Given the description of an element on the screen output the (x, y) to click on. 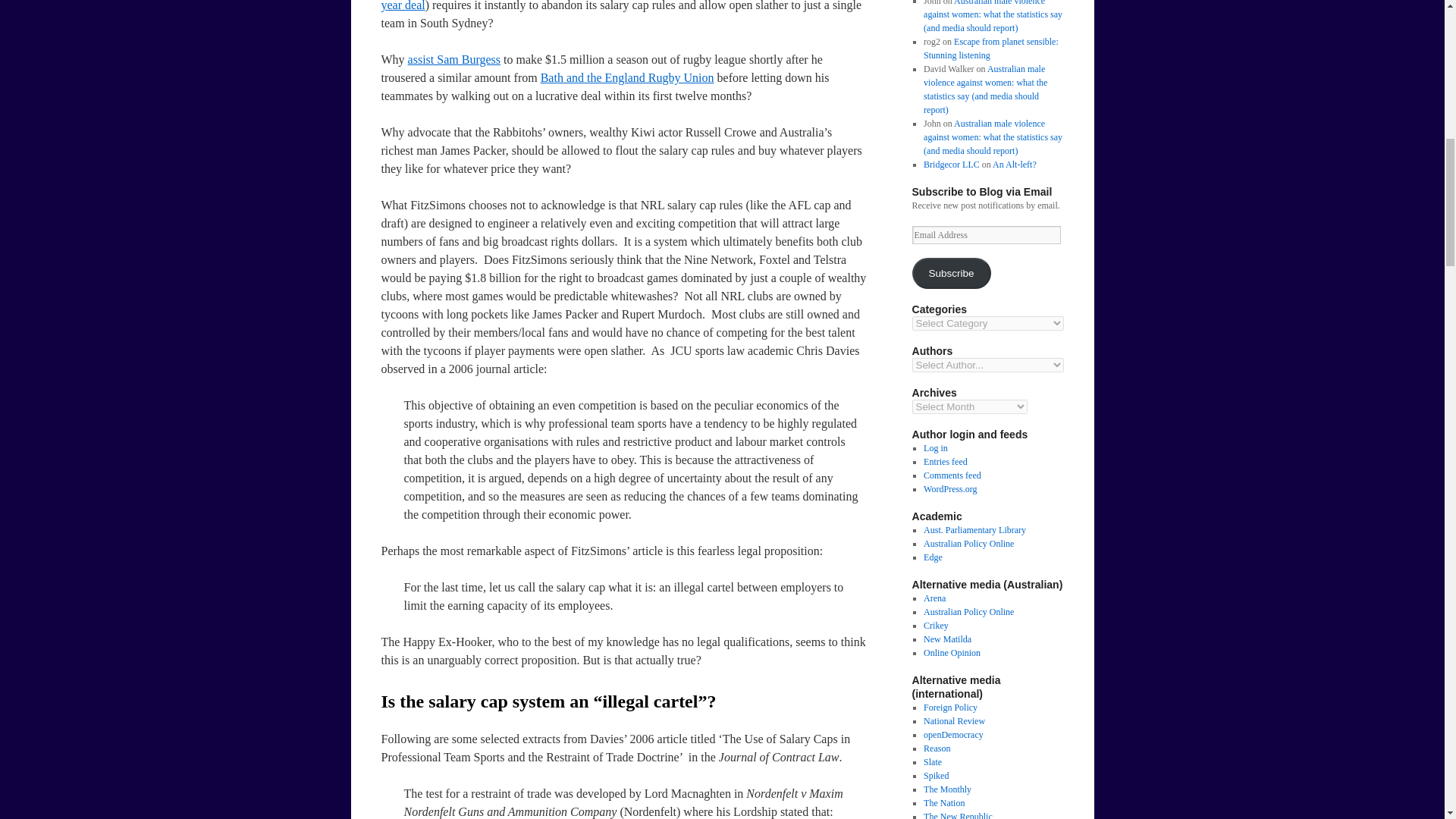
Bath and the England Rugby Union (627, 77)
assist Sam Burgess (453, 59)
